Given the description of an element on the screen output the (x, y) to click on. 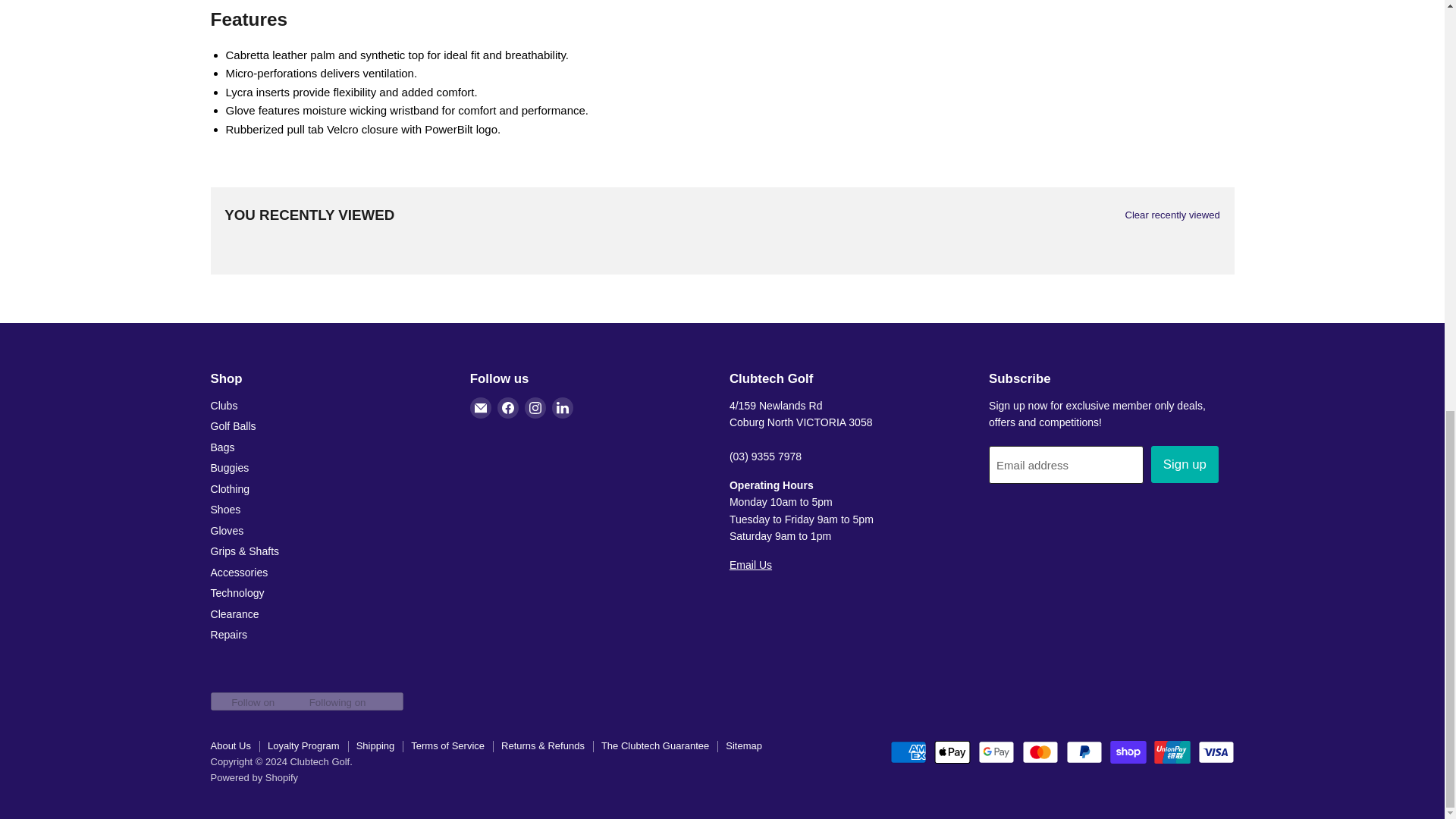
Facebook (507, 407)
LinkedIn (562, 407)
Instagram (535, 407)
Email (481, 407)
